Given the description of an element on the screen output the (x, y) to click on. 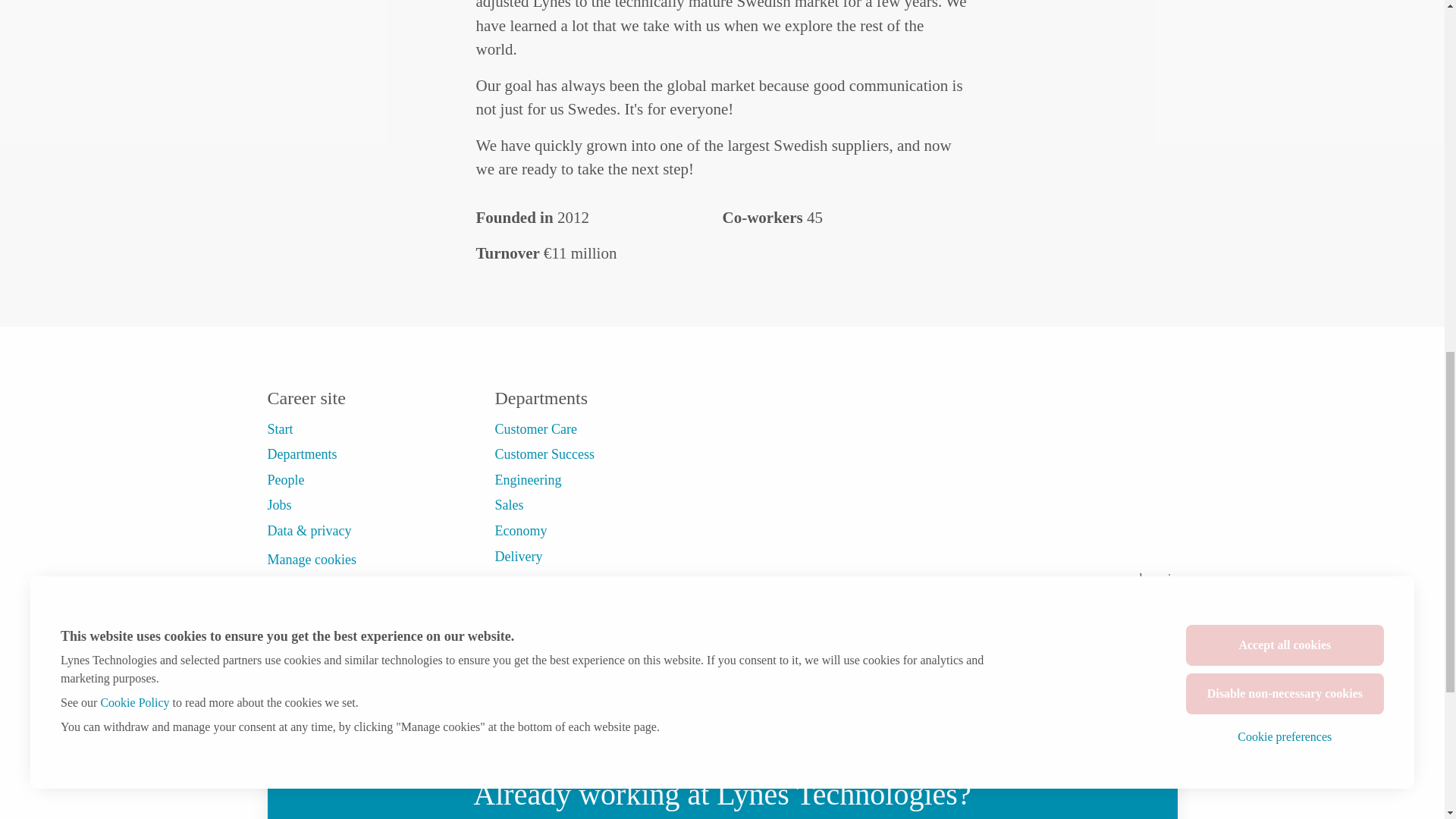
Sales (508, 504)
Customer Success (544, 454)
Change language (1103, 673)
People (285, 479)
Candidate Connect login (953, 673)
All departments (537, 581)
lynes.io (1157, 578)
Economy (521, 530)
Delivery (518, 556)
Engineering (527, 479)
